Given the description of an element on the screen output the (x, y) to click on. 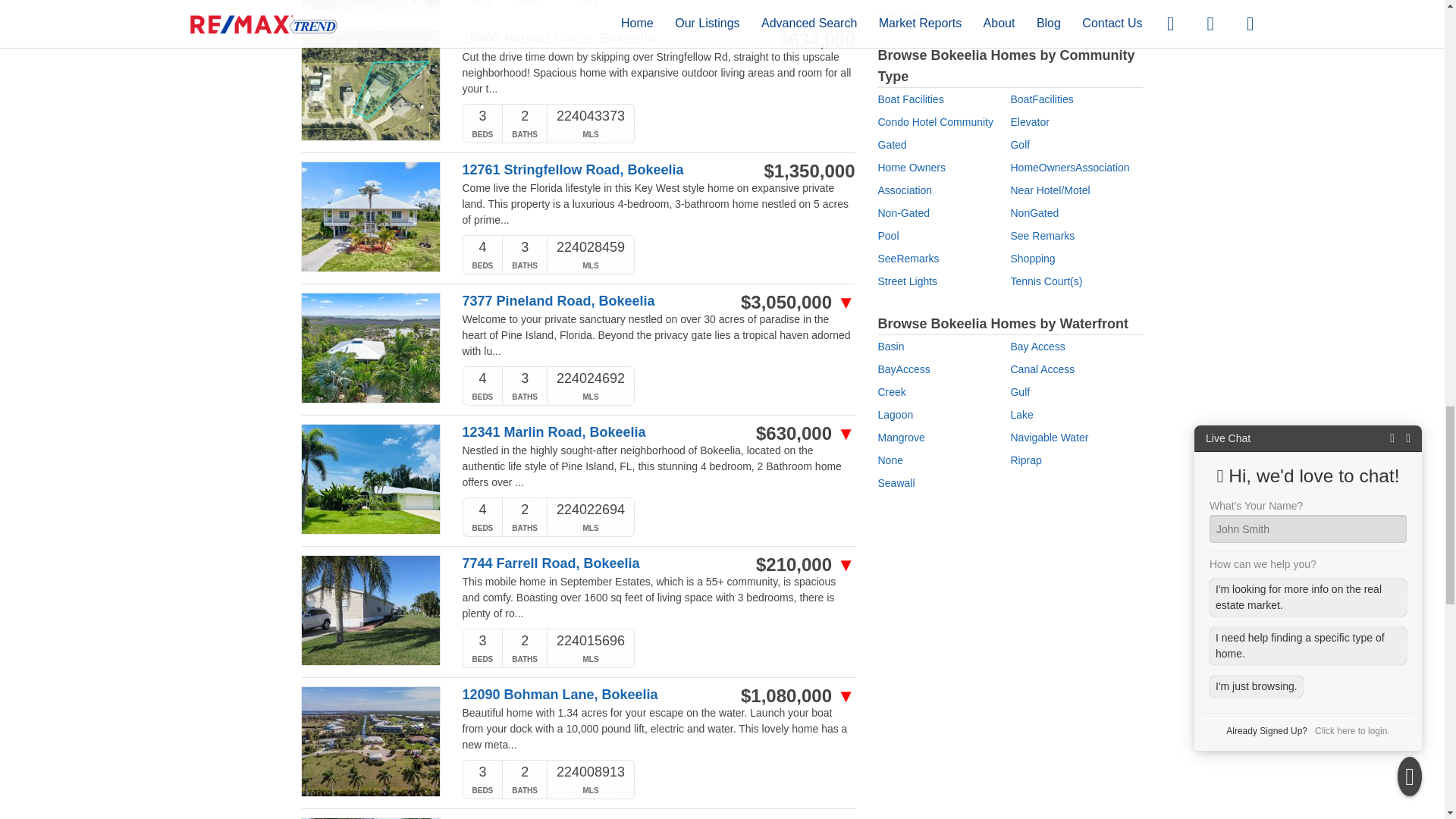
12761 Stringfellow Road, Bokeelia (600, 170)
12341 Marlin Road, Bokeelia (600, 432)
7377 Pineland Road, Bokeelia (600, 301)
10800 Habitat Circle, Bokeelia (600, 38)
